Given the description of an element on the screen output the (x, y) to click on. 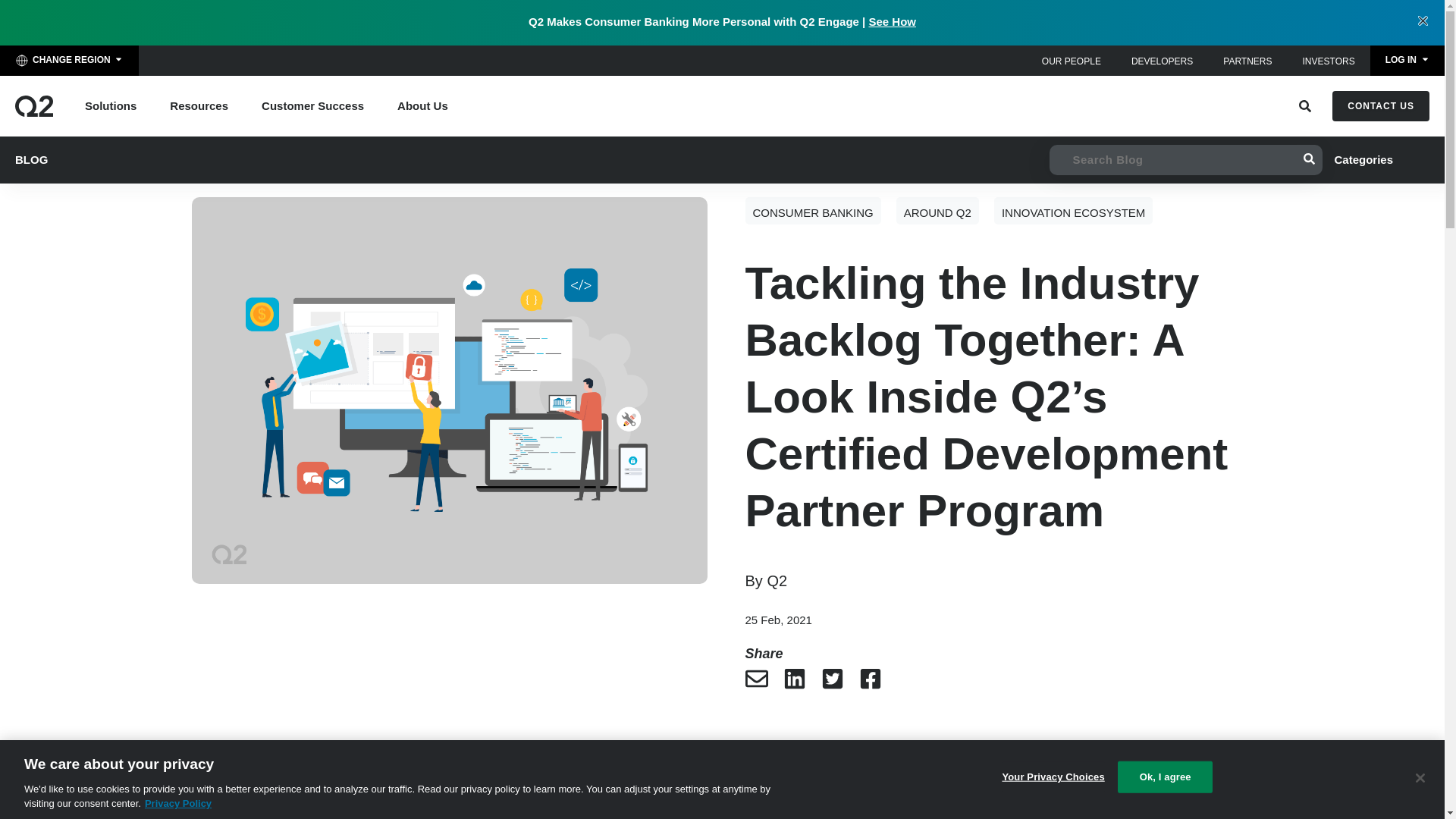
CHANGE REGION (69, 60)
OUR PEOPLE (1071, 61)
DEVELOPERS (1161, 61)
Resources (199, 105)
See How (891, 21)
INVESTORS (1329, 61)
Solutions (110, 105)
PARTNERS (1247, 61)
Contact Us (1380, 105)
